Given the description of an element on the screen output the (x, y) to click on. 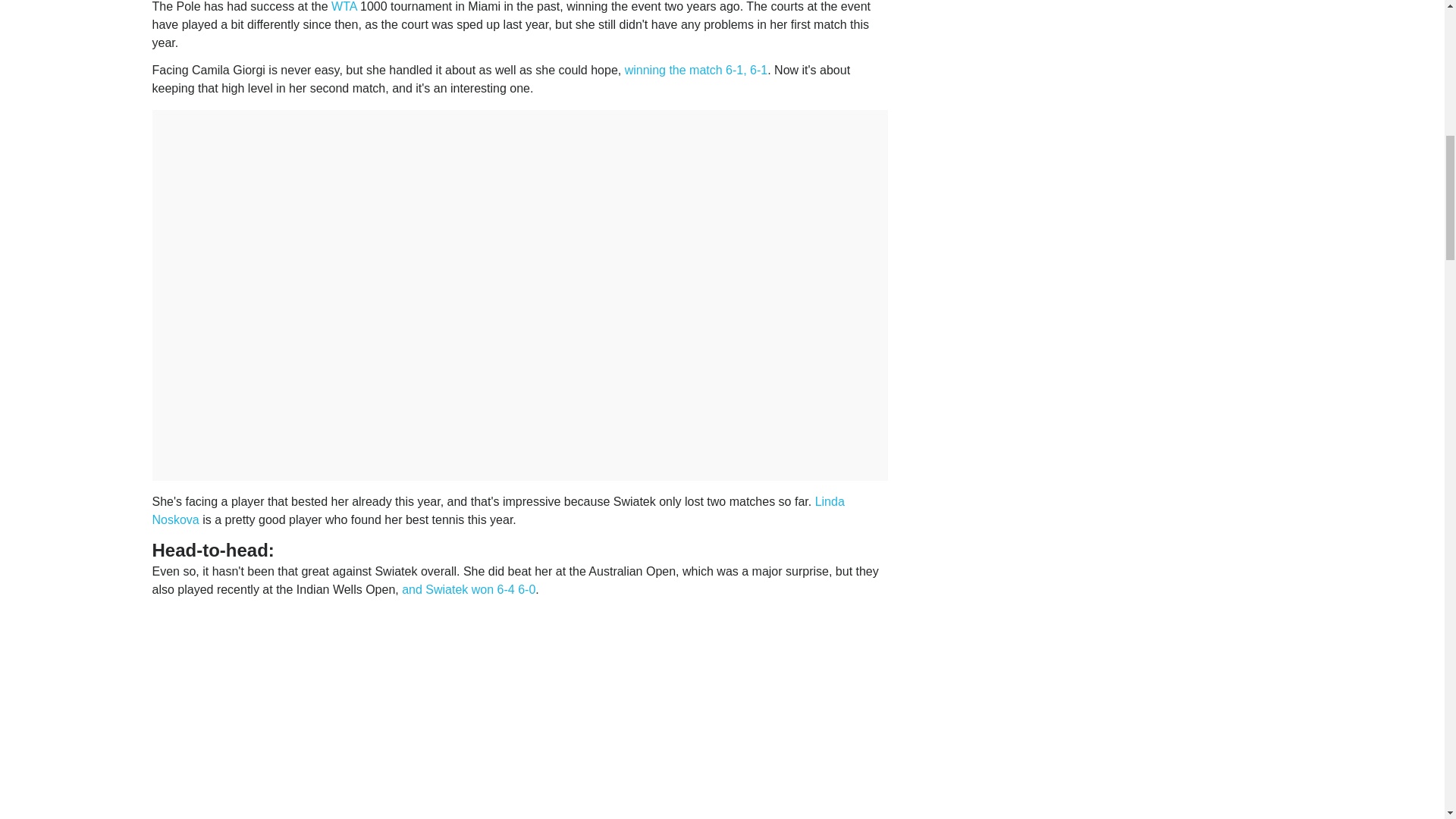
WTA (343, 6)
and Swiatek won 6-4 6-0 (468, 589)
Linda Noskova (497, 510)
WTA (343, 6)
winning the match 6-1, 6-1 (696, 69)
Linda Noskova (497, 510)
